Given the description of an element on the screen output the (x, y) to click on. 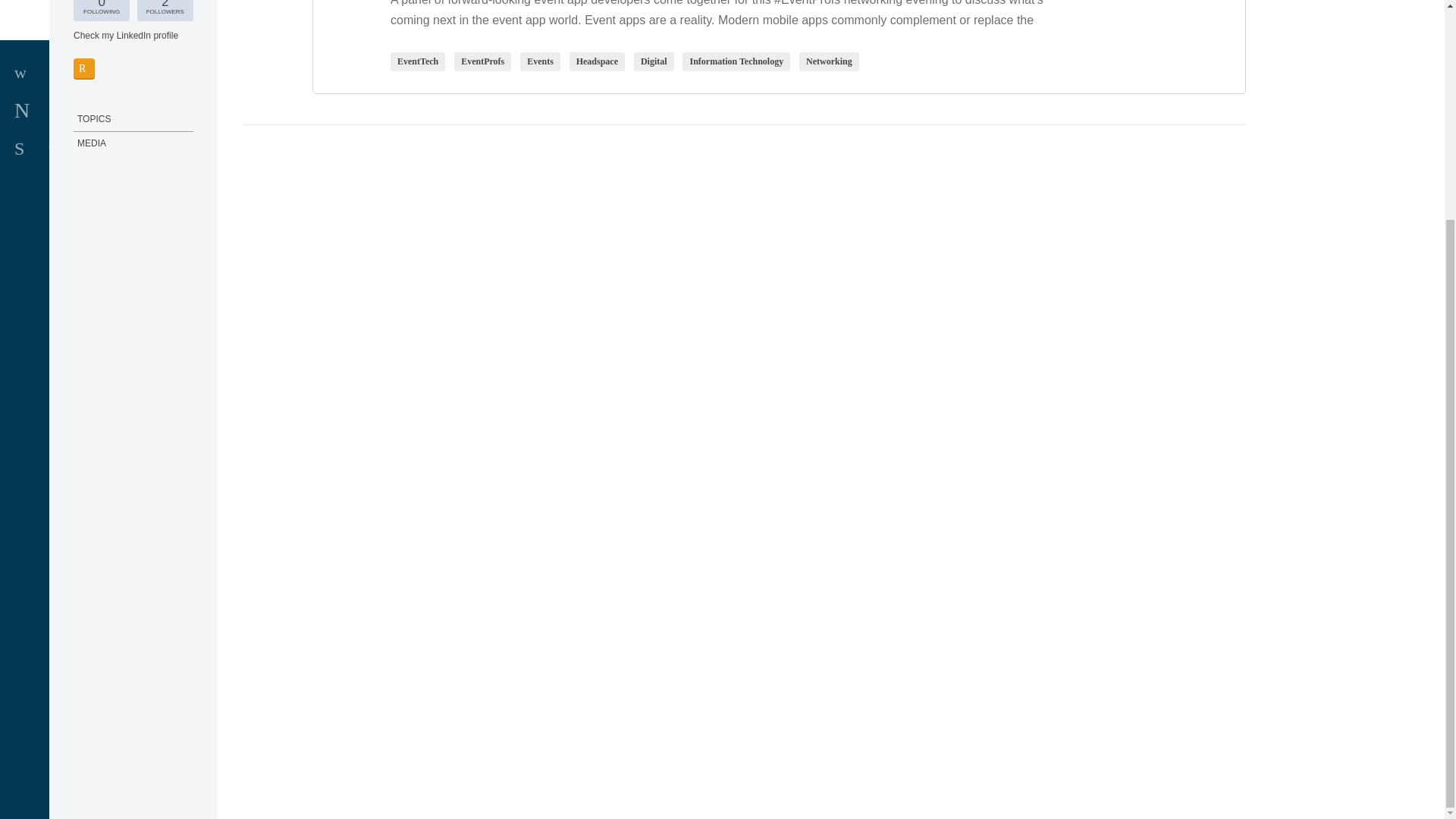
Networking (828, 61)
a (84, 540)
Info (84, 540)
Events (540, 61)
EventTech (417, 61)
Headspace (596, 61)
Information Technology (735, 61)
Digital (653, 61)
EventProfs (164, 9)
